Given the description of an element on the screen output the (x, y) to click on. 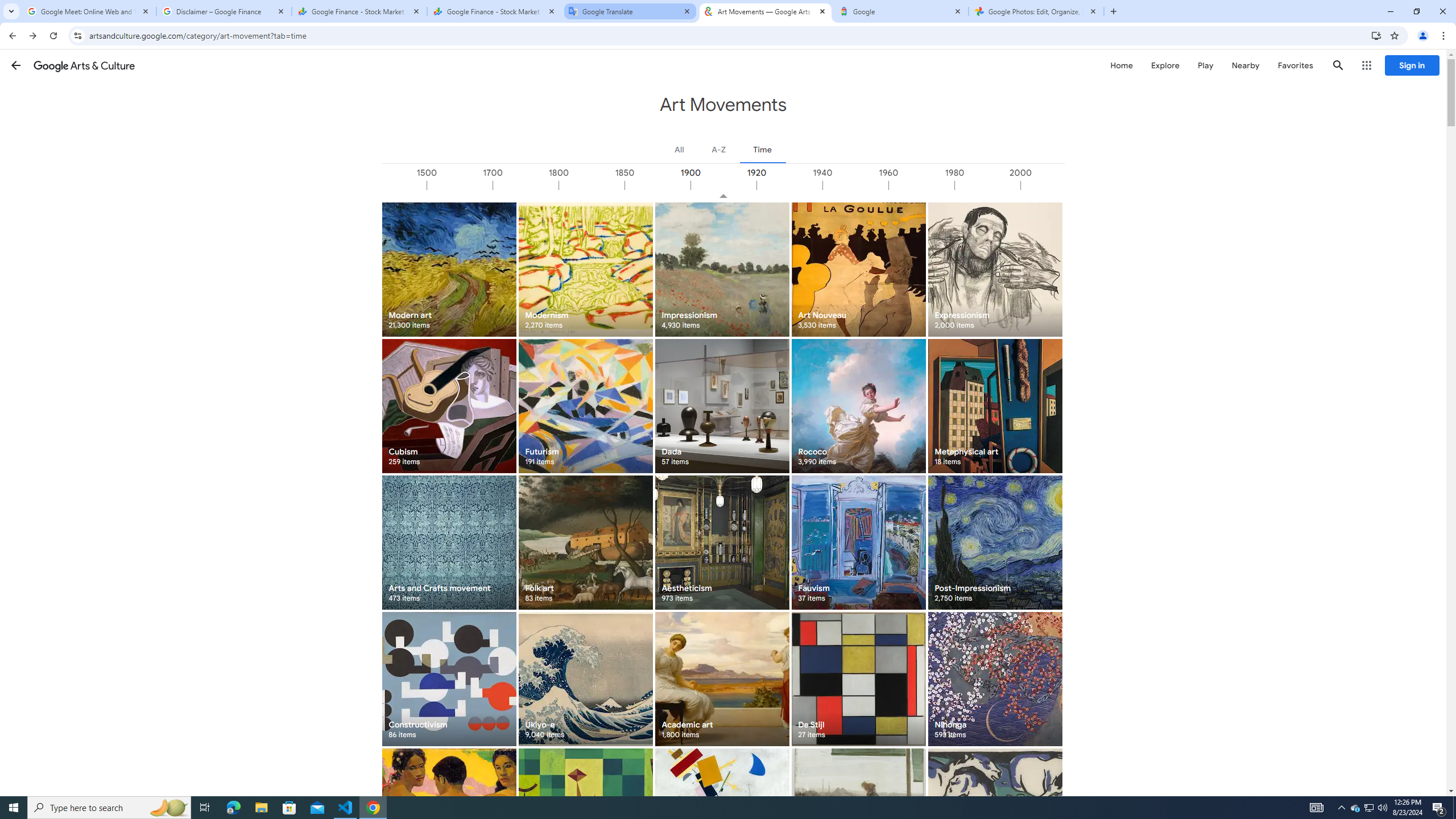
Google Translate (630, 11)
1700 (525, 185)
Fauvism 37 items (858, 542)
Metaphysical art 18 items (994, 406)
1920 (788, 185)
1500 (459, 185)
Impressionism 4,930 items (722, 269)
Cubism 259 items (448, 406)
Modernism 2,270 items (585, 269)
